Given the description of an element on the screen output the (x, y) to click on. 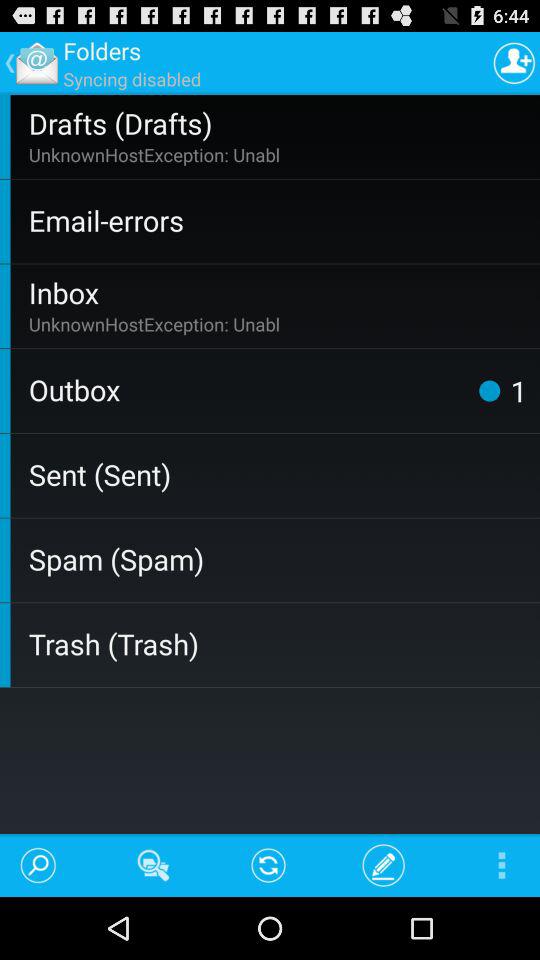
tap the app below trash (trash) app (492, 864)
